Given the description of an element on the screen output the (x, y) to click on. 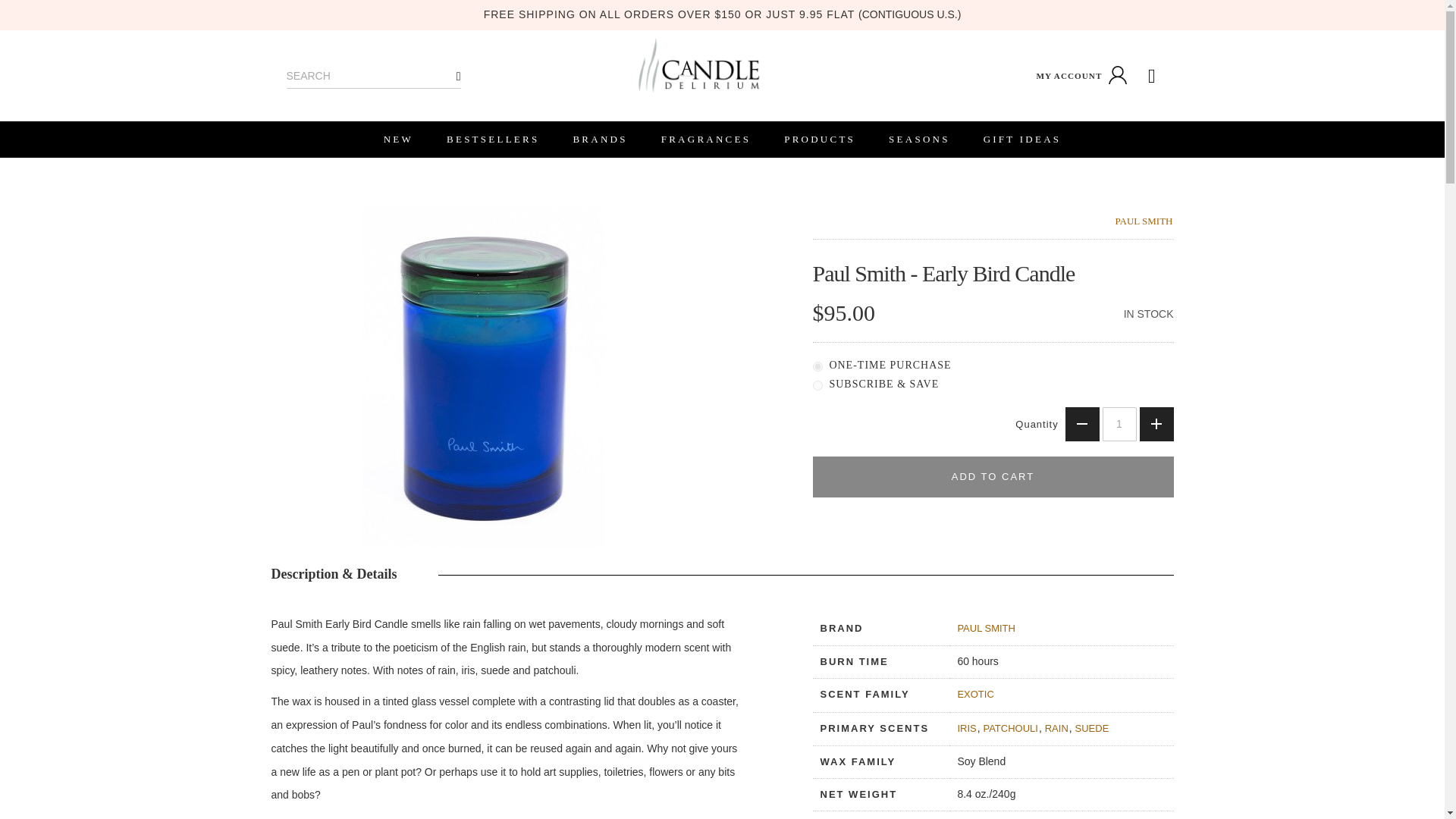
BRANDS (599, 139)
MY ACCOUNT (1083, 75)
CandleDelirium Candles (697, 65)
BESTSELLERS (492, 139)
1 (1119, 424)
0 (817, 366)
NEW (397, 139)
